Given the description of an element on the screen output the (x, y) to click on. 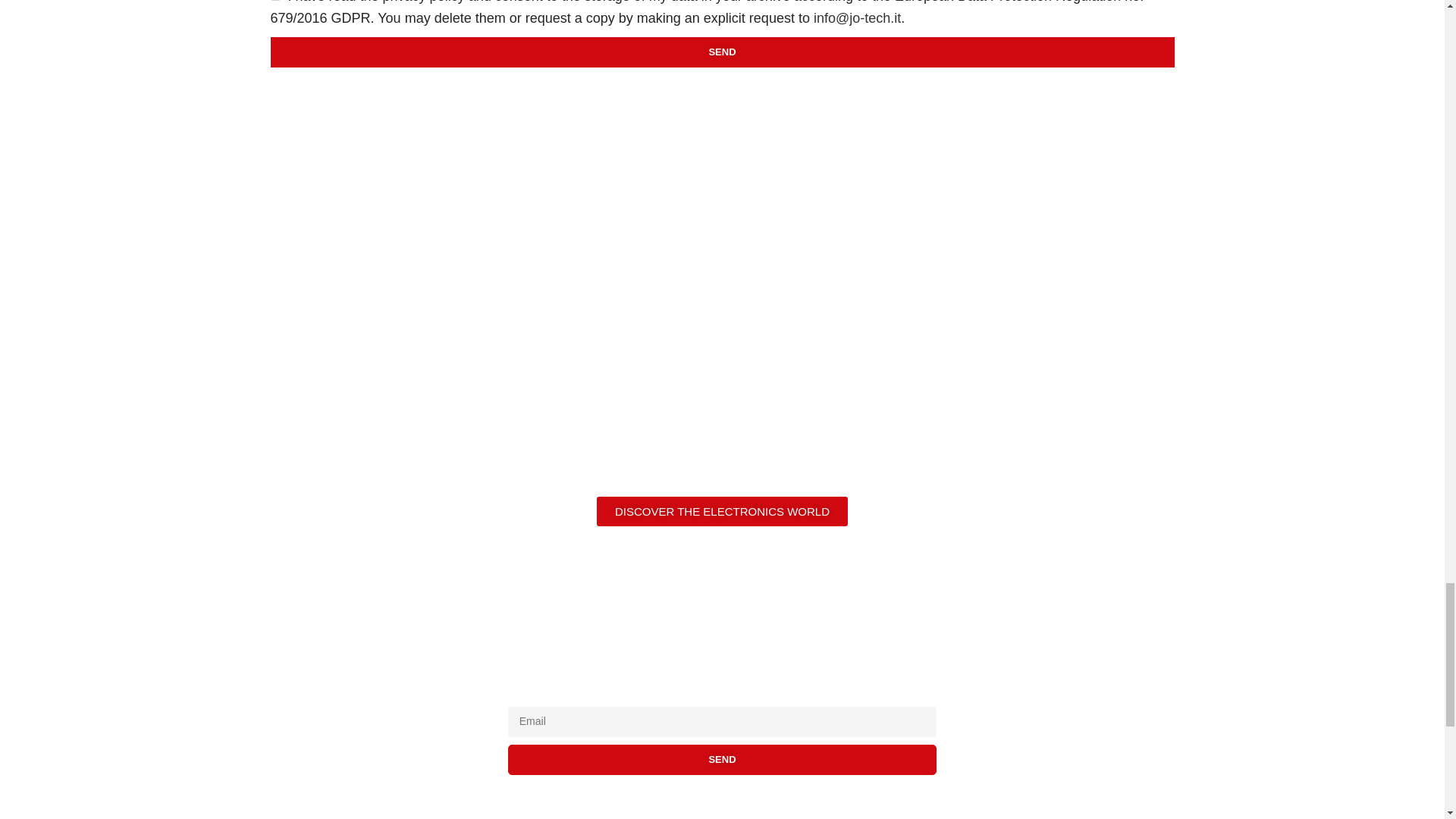
SEND (721, 51)
DISCOVER THE ELECTRONICS WORLD (721, 511)
SEND (722, 759)
